Given the description of an element on the screen output the (x, y) to click on. 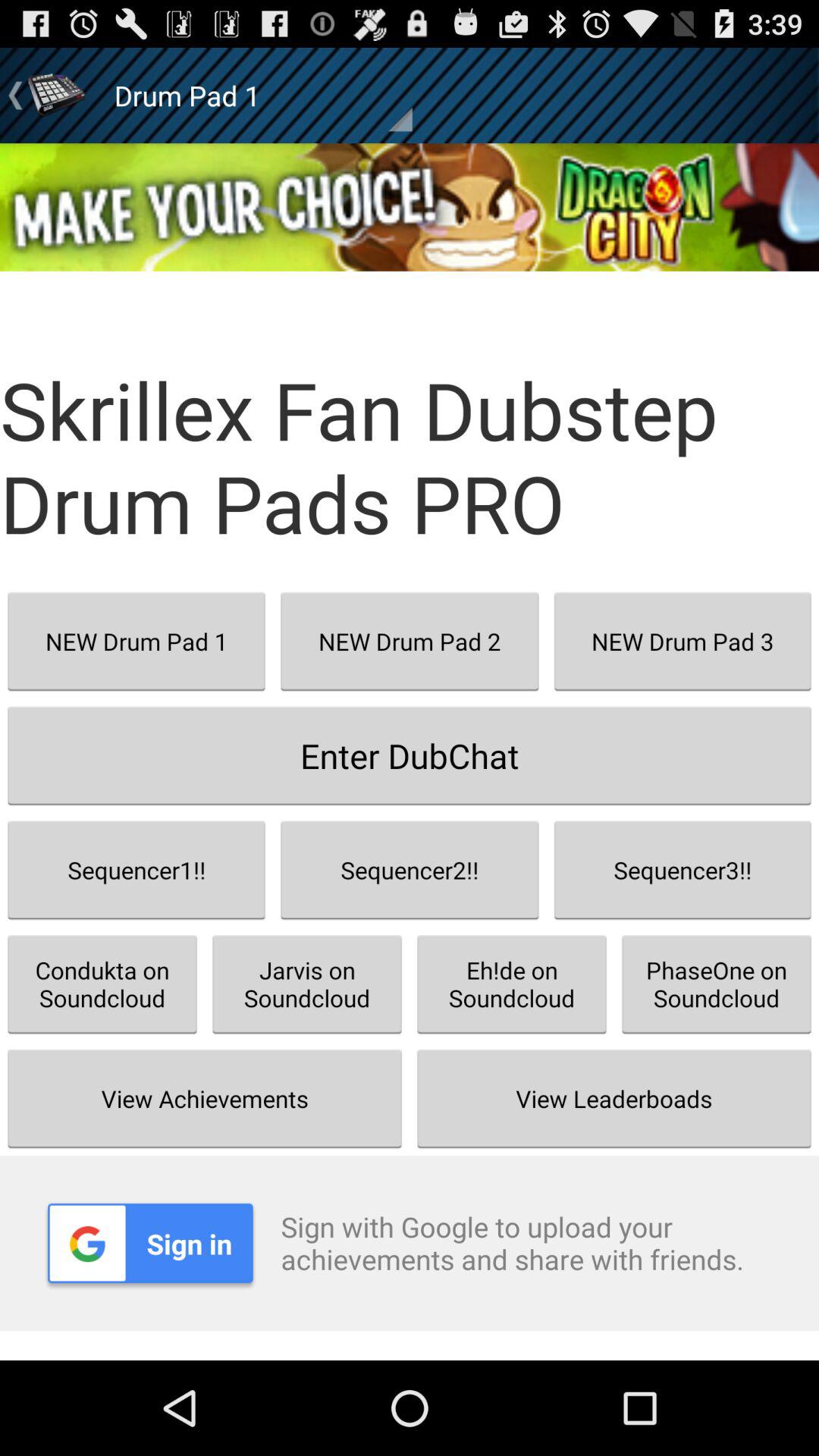
go to advertisement (409, 207)
